Given the description of an element on the screen output the (x, y) to click on. 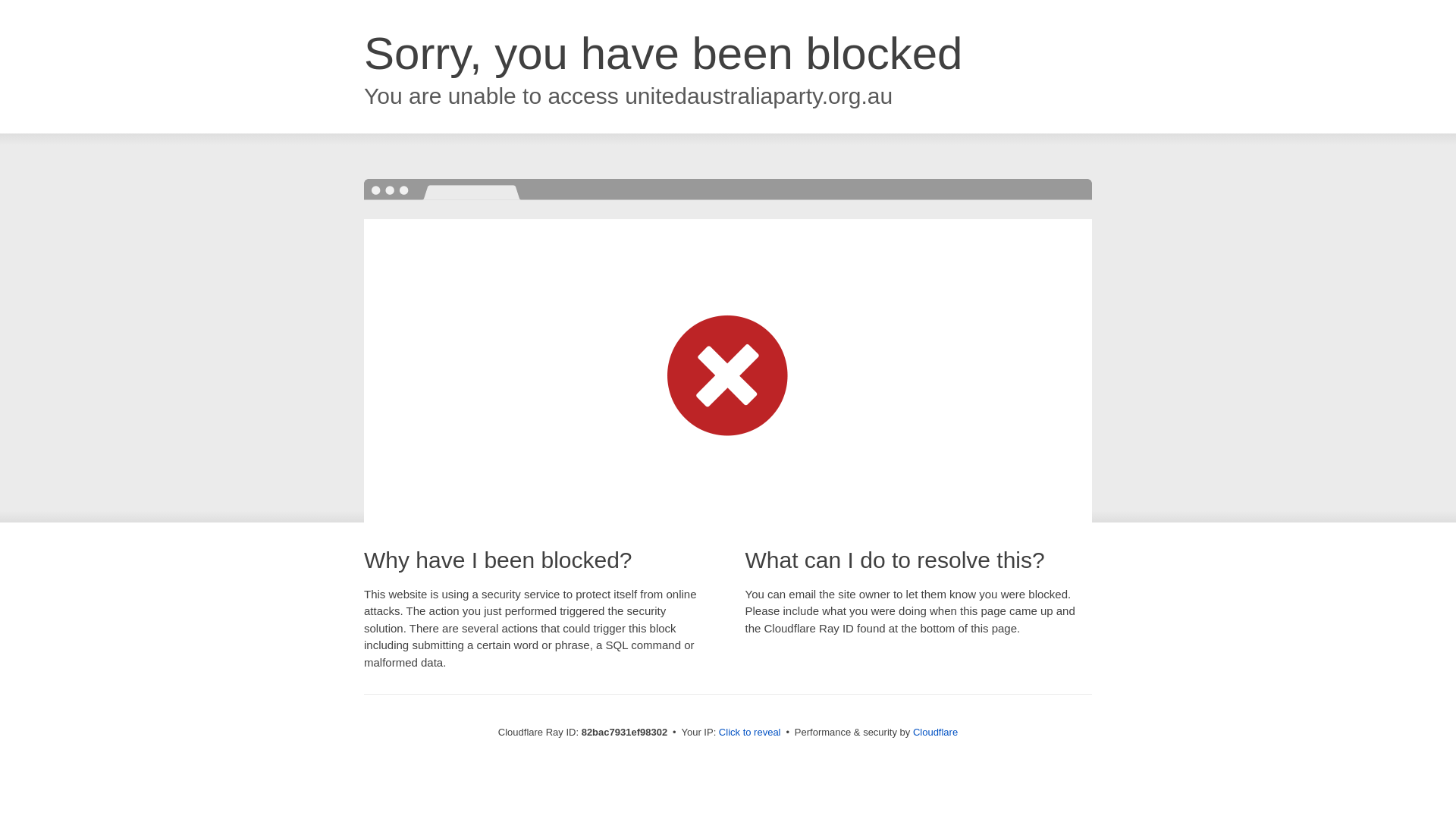
Click to reveal Element type: text (749, 732)
Cloudflare Element type: text (935, 731)
